Given the description of an element on the screen output the (x, y) to click on. 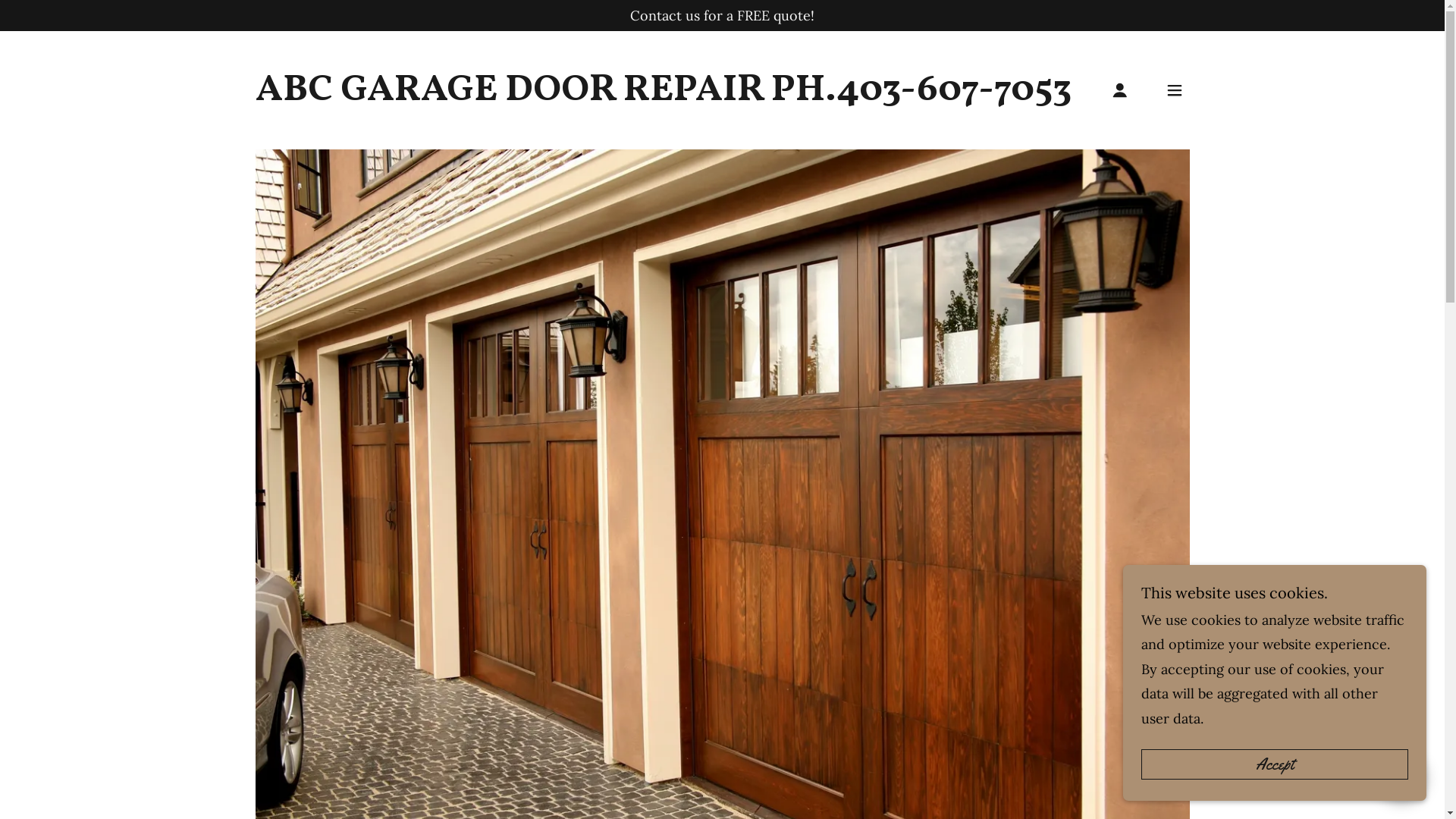
Accept Element type: text (1274, 764)
ABC GARAGE DOOR REPAIR PH.403-607-7053 Element type: text (662, 94)
